Given the description of an element on the screen output the (x, y) to click on. 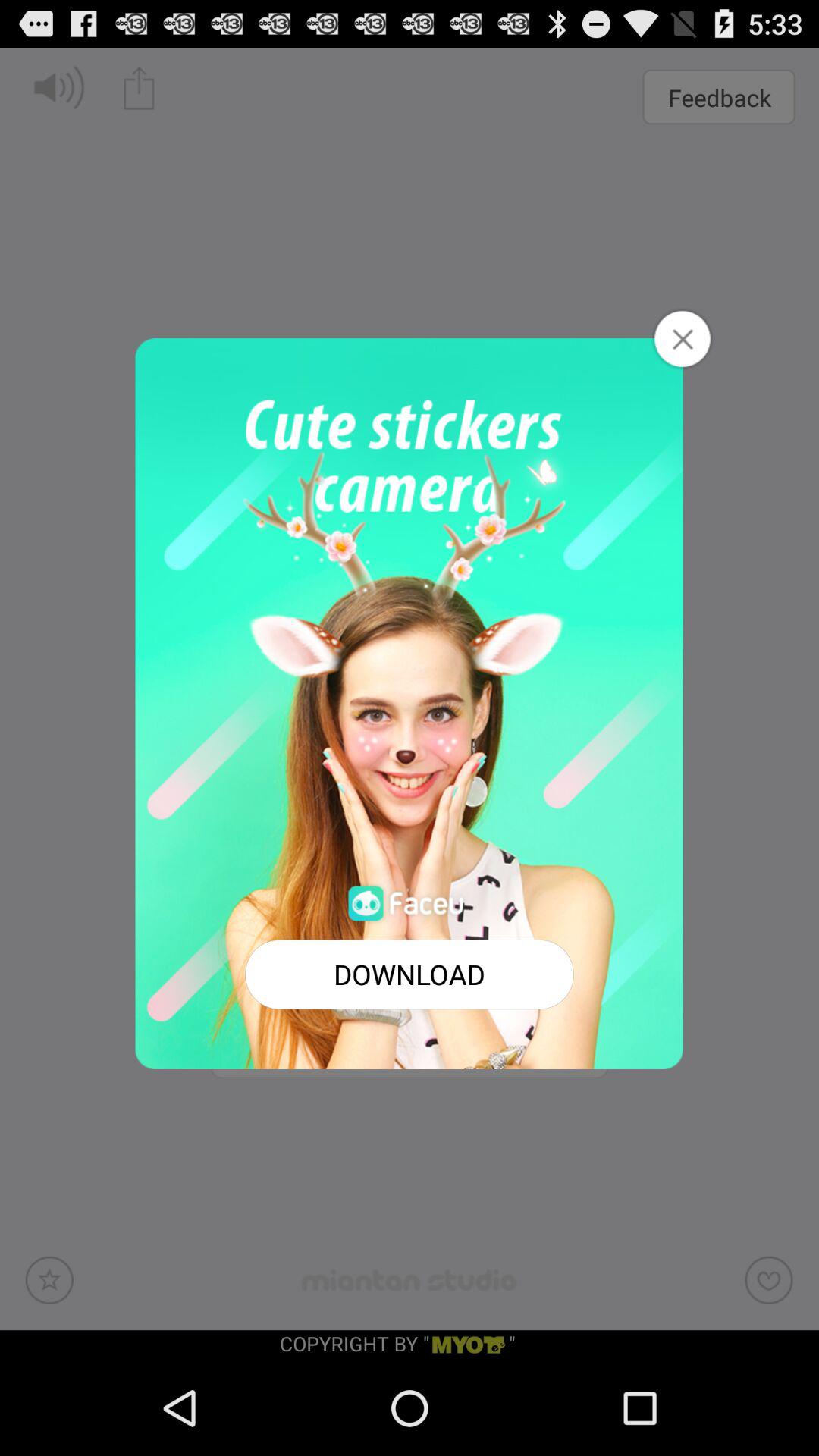
launch the icon at the top right corner (682, 338)
